Given the description of an element on the screen output the (x, y) to click on. 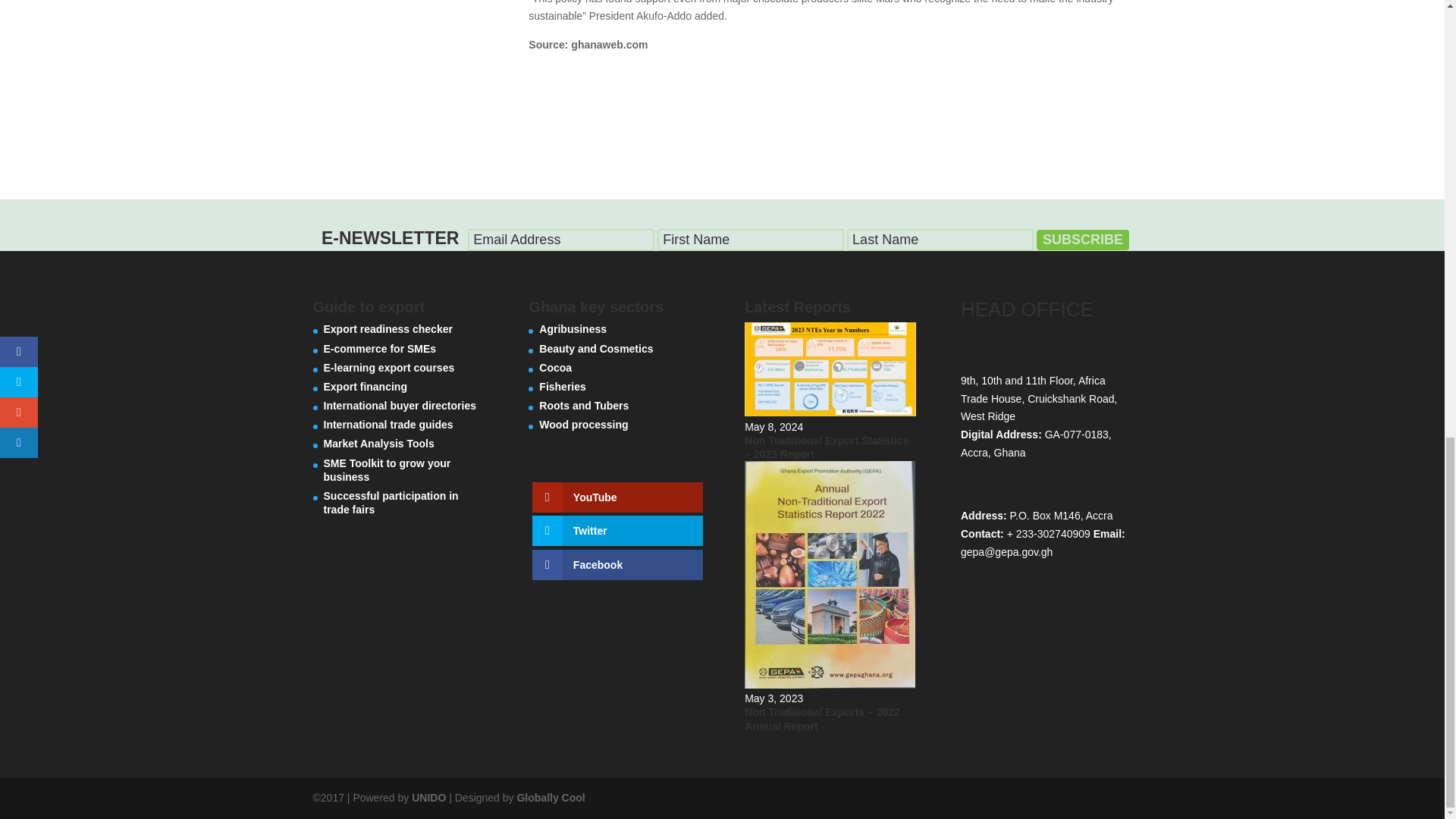
United Nations Industrial Development Organization (428, 797)
Subscribe (1082, 240)
